Given the description of an element on the screen output the (x, y) to click on. 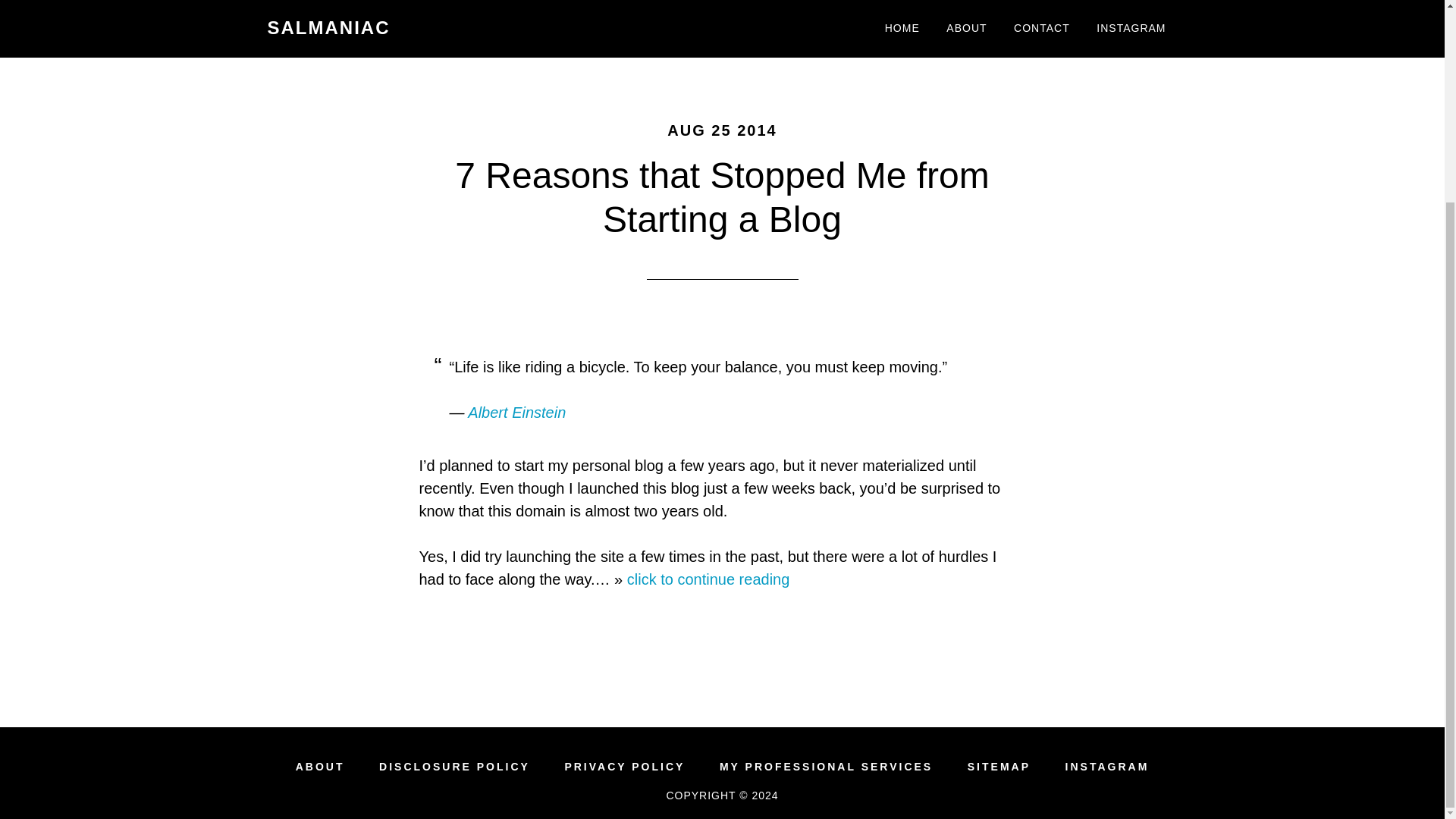
Albert Einstein Quote Citation (516, 412)
7 Reasons that Stopped Me from Starting a Blog (721, 197)
PRIVACY POLICY (624, 766)
MY PROFESSIONAL SERVICES (826, 766)
DISCLOSURE POLICY (453, 766)
ABOUT (320, 766)
Albert Einstein (516, 412)
INSTAGRAM (1107, 766)
SITEMAP (999, 766)
